Given the description of an element on the screen output the (x, y) to click on. 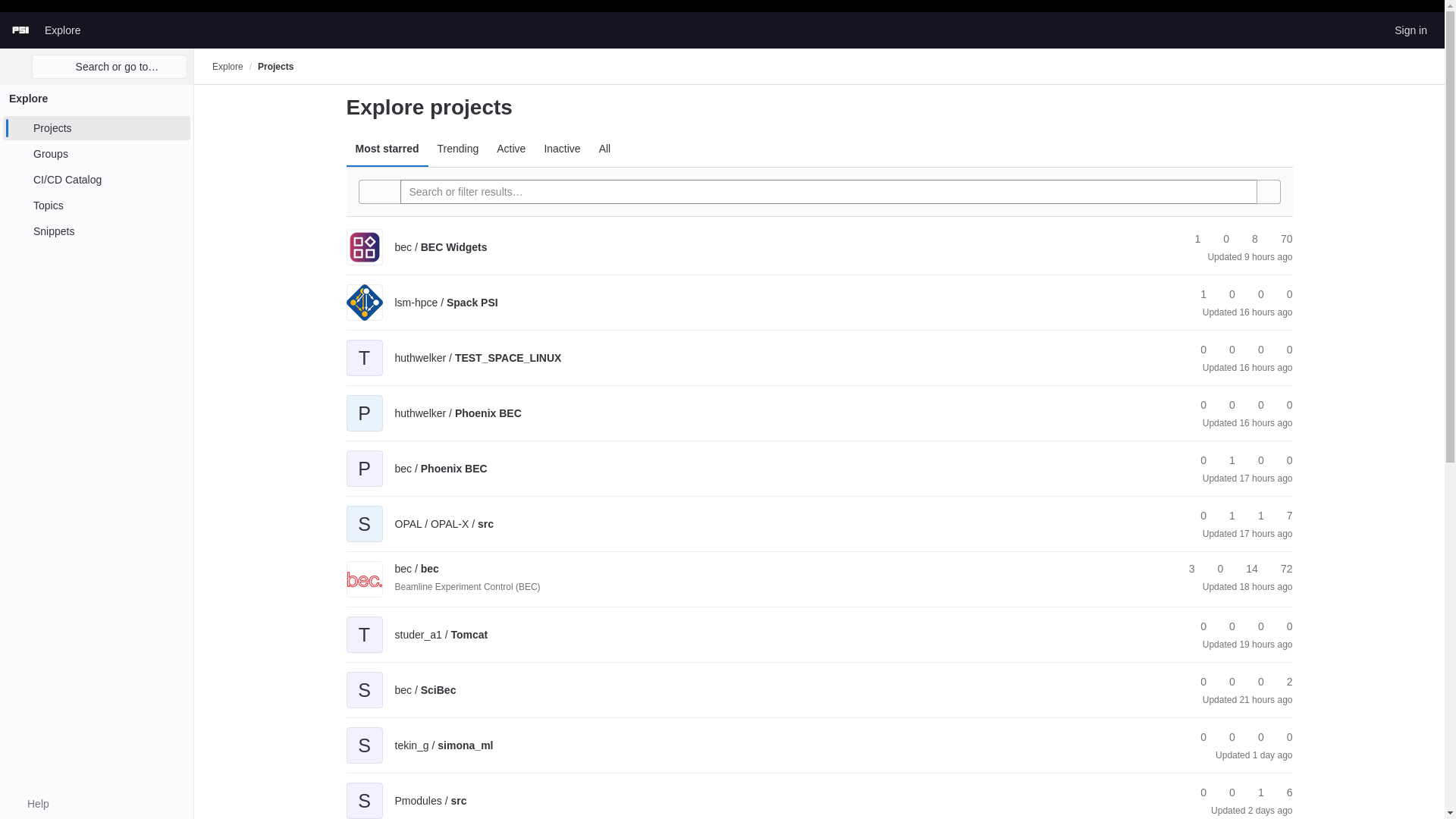
Merge requests (1253, 294)
0 (1218, 238)
Spack PSI (445, 302)
1 (1190, 238)
Projects (275, 66)
Sign in (1410, 30)
Stars (1190, 238)
Toggle history (379, 191)
BEC Widgets (440, 246)
8 (1248, 238)
70 (1279, 238)
Issues (1279, 238)
